Given the description of an element on the screen output the (x, y) to click on. 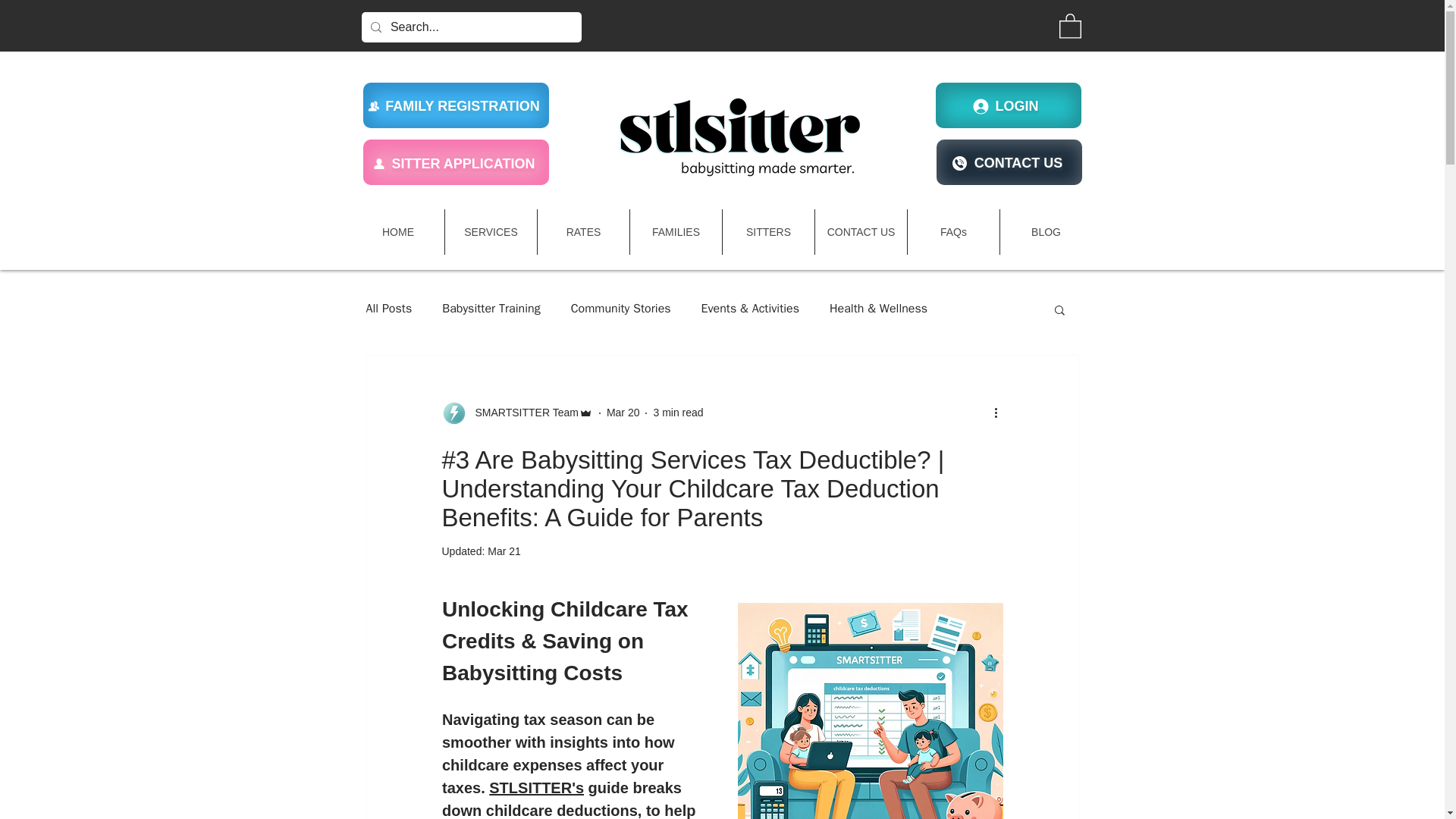
Community Stories (620, 308)
SITTER APPLICATION (455, 162)
FAMILY REGISTRATION (455, 104)
HOME (398, 231)
FAMILIES (676, 231)
3 min read (677, 412)
CONTACT US (861, 231)
RATES (582, 231)
SITTERS (767, 231)
SMARTSITTER Team (521, 412)
CONTACT US (1008, 162)
Mar 21 (504, 551)
SMARTSITTER Team (516, 413)
STLSITTER's (536, 787)
LOGIN (1008, 104)
